Given the description of an element on the screen output the (x, y) to click on. 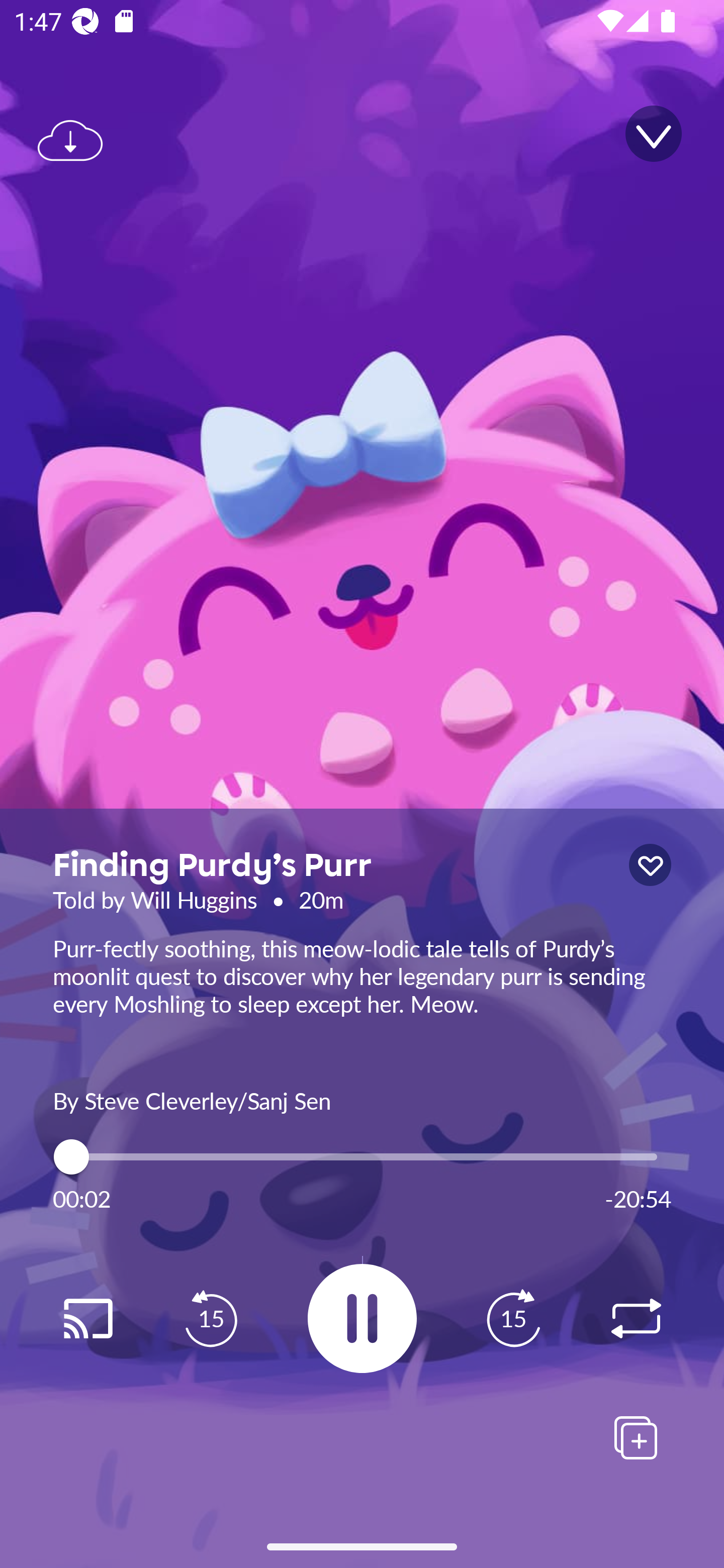
lock icon (650, 865)
By Steve Cleverley/Sanj Sen (361, 1098)
0.0016101829 Pause (361, 1317)
Replay (87, 1318)
Replay 15 (210, 1318)
Replay 15 (513, 1318)
Replay (635, 1318)
Add To Playlists (635, 1437)
